Given the description of an element on the screen output the (x, y) to click on. 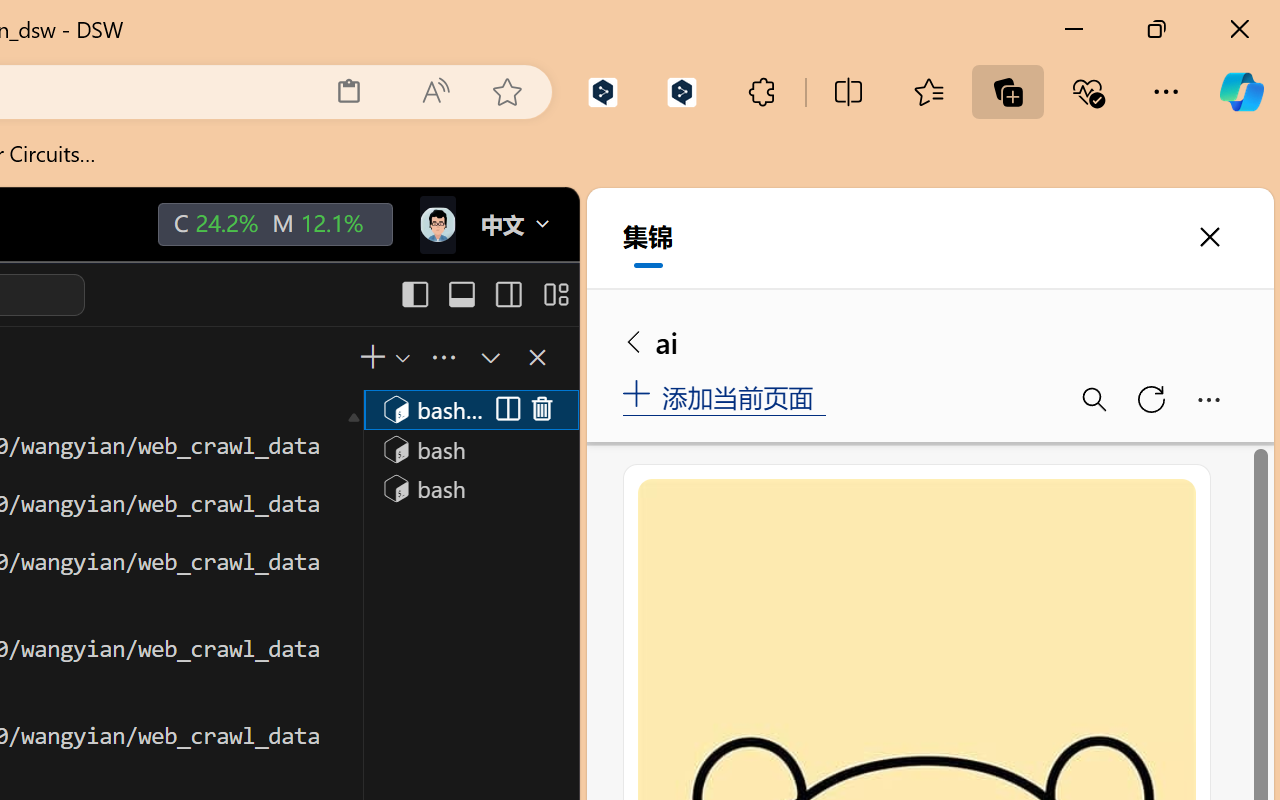
Customize Layout... (553, 294)
Terminal 3 bash (470, 488)
Kill (Delete) (541, 409)
icon (436, 224)
Split (Ctrl+Shift+5) (504, 409)
